Given the description of an element on the screen output the (x, y) to click on. 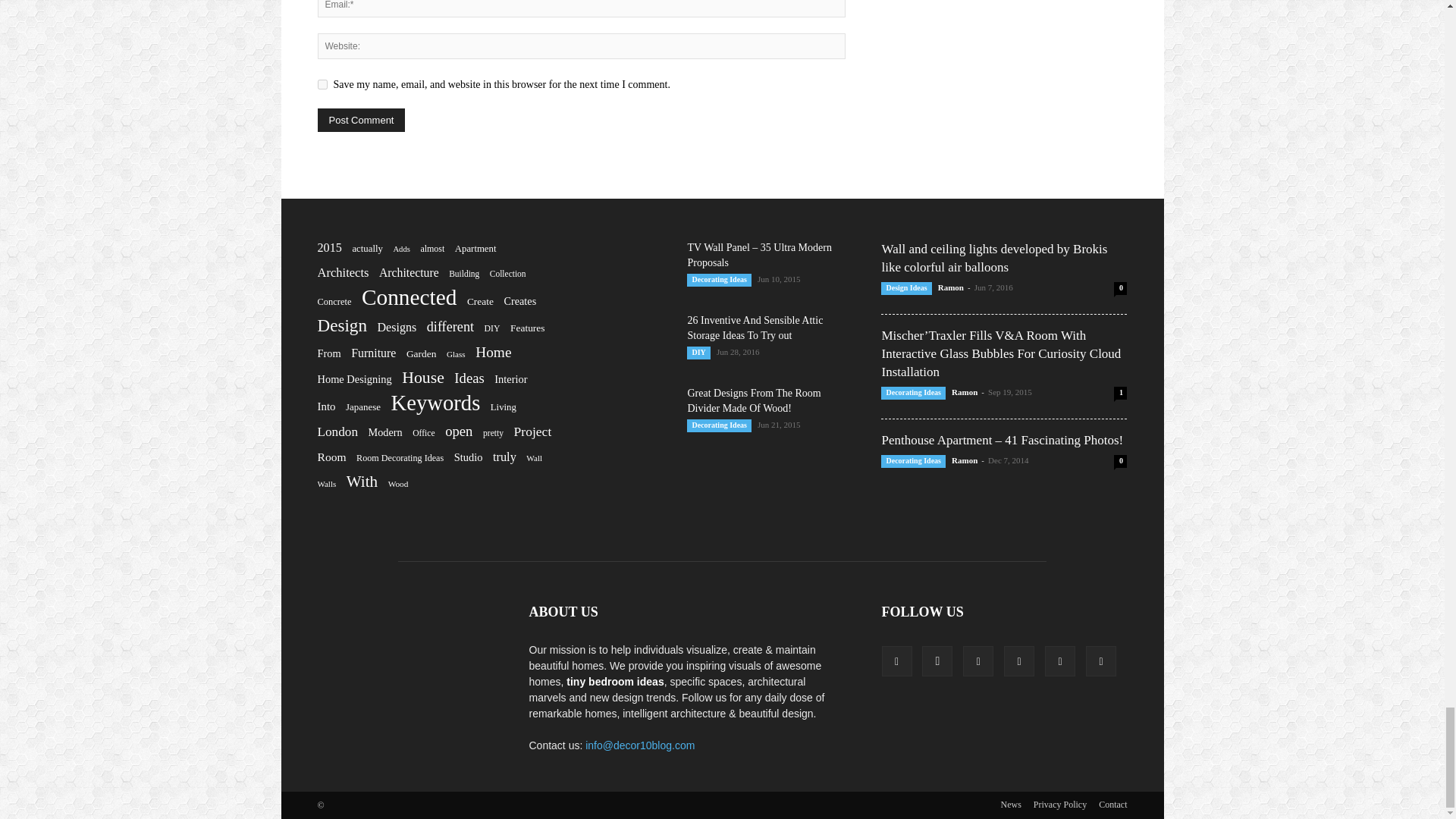
Post Comment (360, 119)
yes (321, 84)
